Given the description of an element on the screen output the (x, y) to click on. 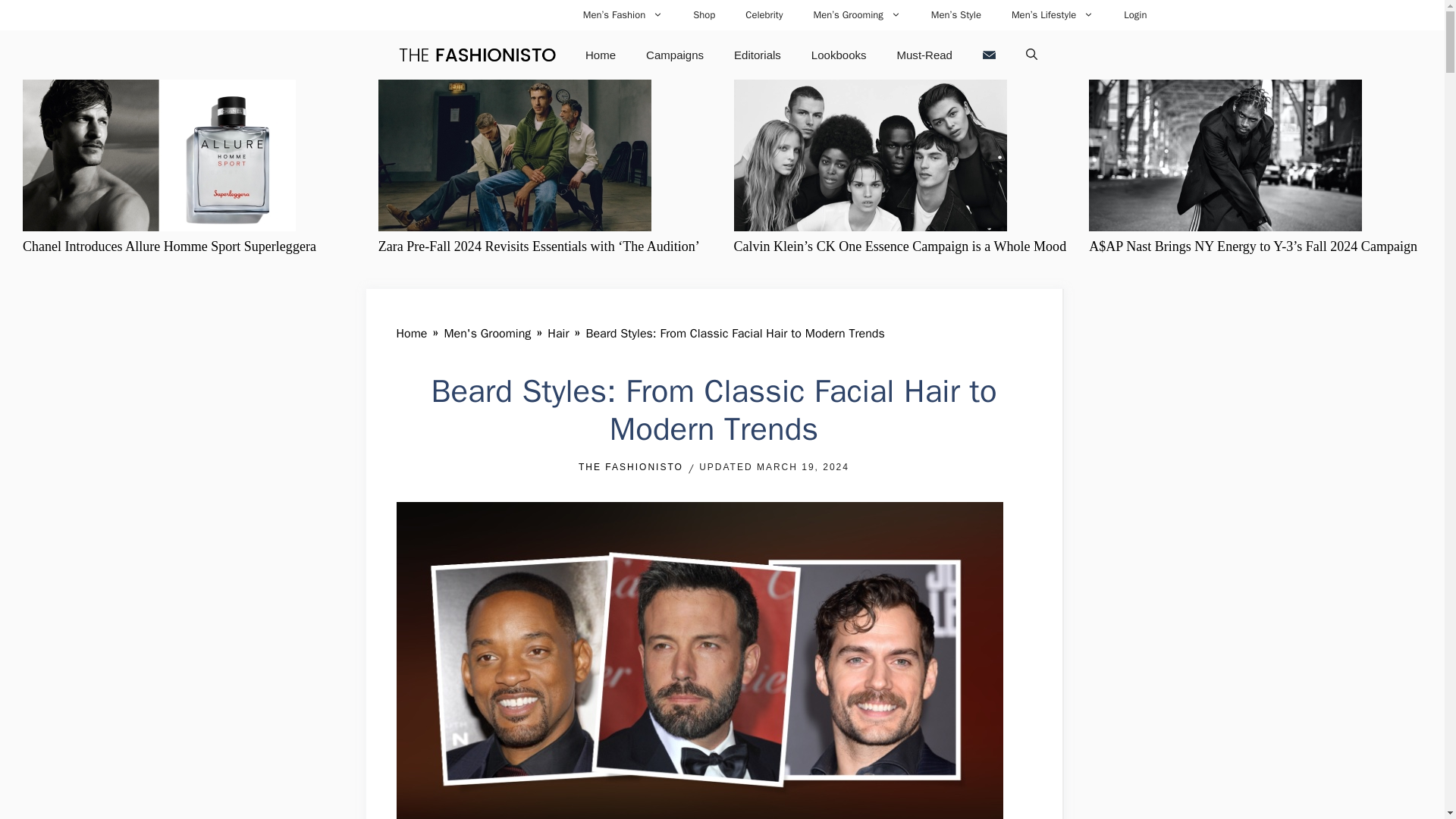
Shop (704, 15)
Editorials (757, 53)
Men's Grooming (487, 333)
Campaigns (674, 53)
Chanel Introduces Allure Homme Sport Superleggera (169, 246)
Home (600, 53)
Subscribe (989, 53)
The Fashionisto (476, 54)
Must-Read (925, 53)
